Given the description of an element on the screen output the (x, y) to click on. 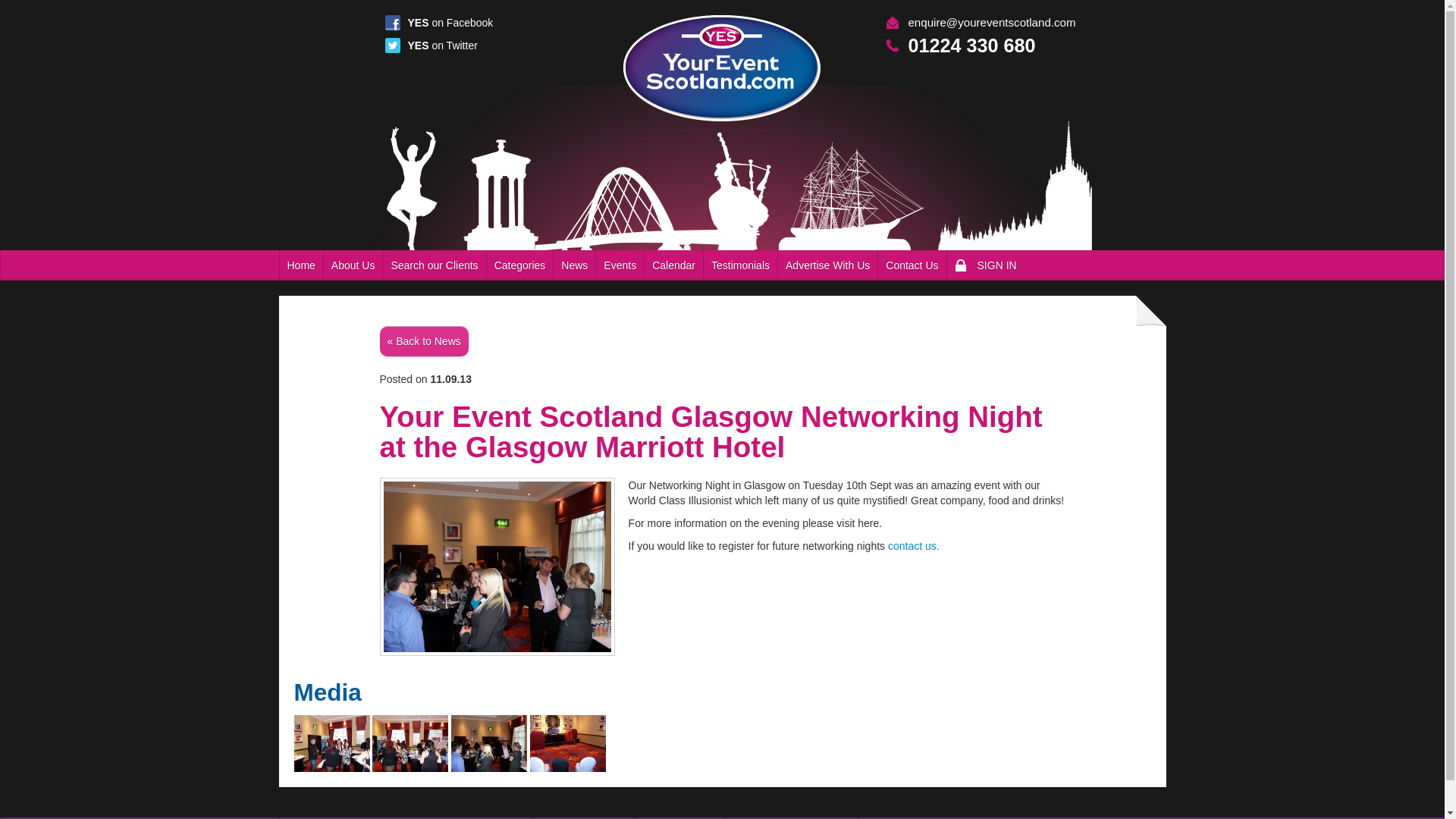
Your Event Scotland on Facebook (450, 22)
Your Event Scotland on Twitter (442, 45)
About Us (353, 265)
Contact Us (911, 265)
Your Event Scotland (722, 68)
Community (740, 265)
Your Event Scotland (1025, 22)
Home (300, 265)
Advertise With Us (827, 265)
Categories (520, 265)
